Given the description of an element on the screen output the (x, y) to click on. 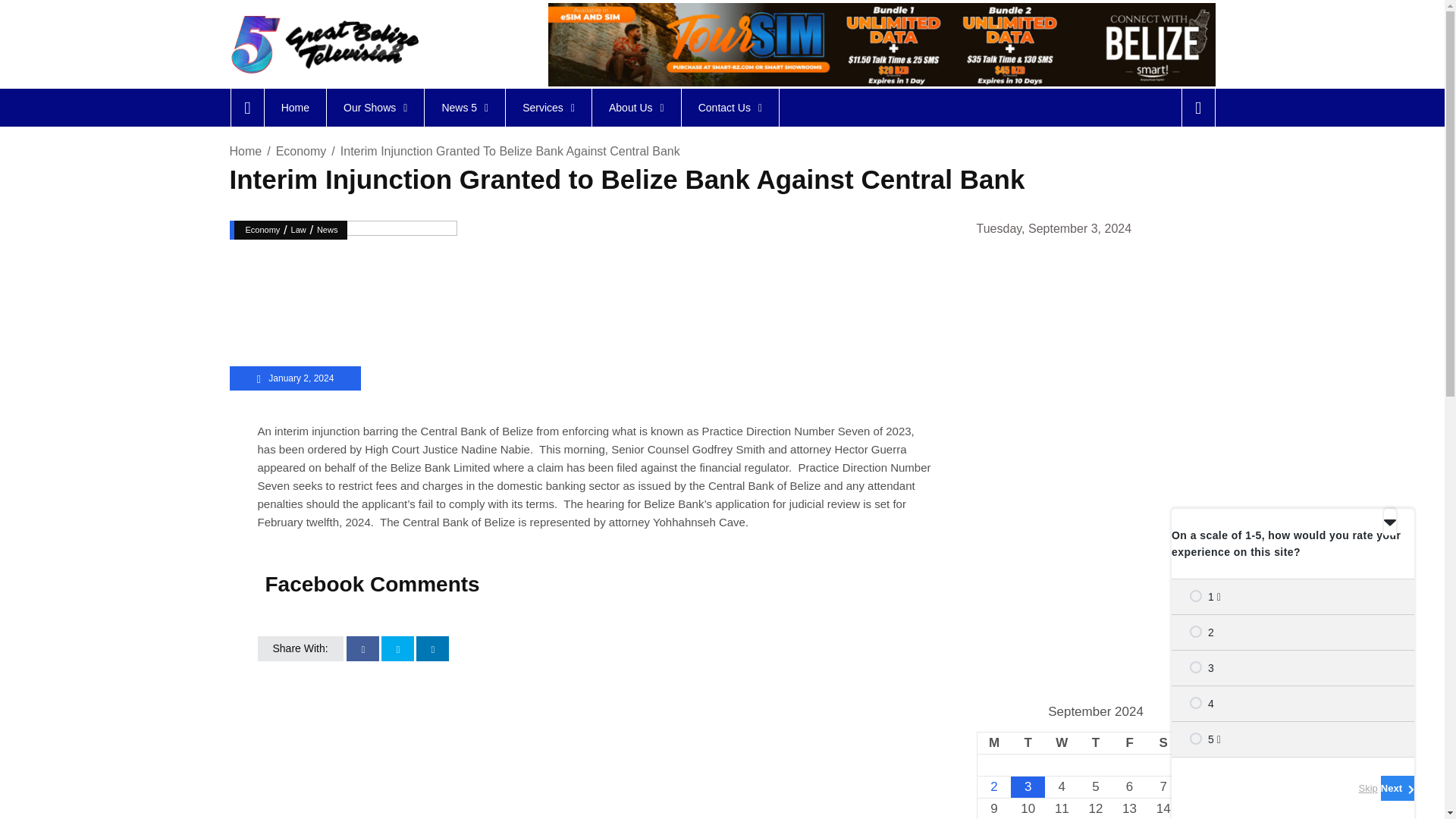
Monday (993, 742)
Home (294, 107)
Friday (1129, 742)
Sunday (1196, 742)
Saturday (1163, 742)
Our Shows (374, 107)
Thursday (1095, 742)
Tuesday (1027, 742)
Wednesday (1061, 742)
